Given the description of an element on the screen output the (x, y) to click on. 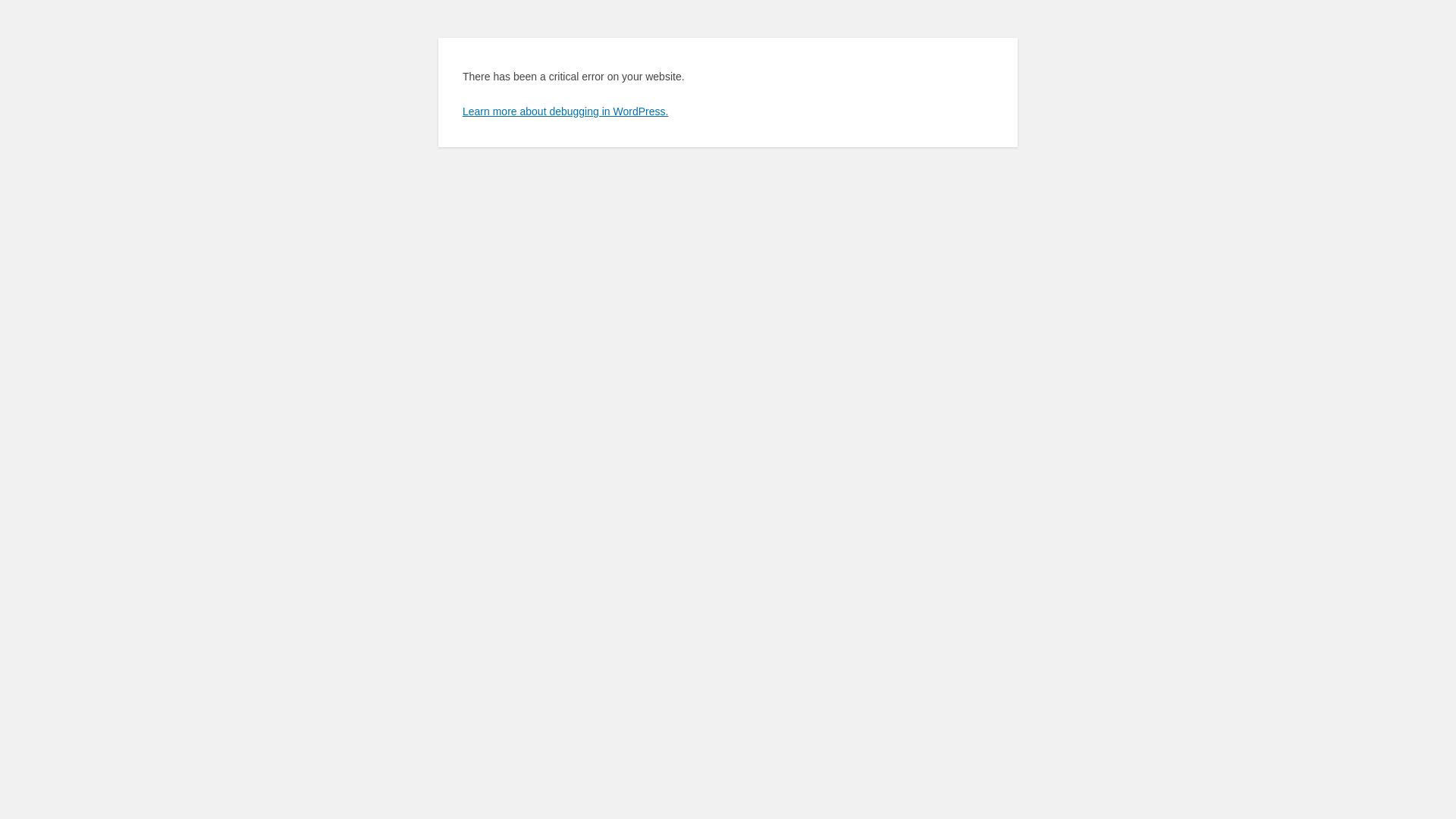
Learn more about debugging in WordPress. Element type: text (565, 111)
